Given the description of an element on the screen output the (x, y) to click on. 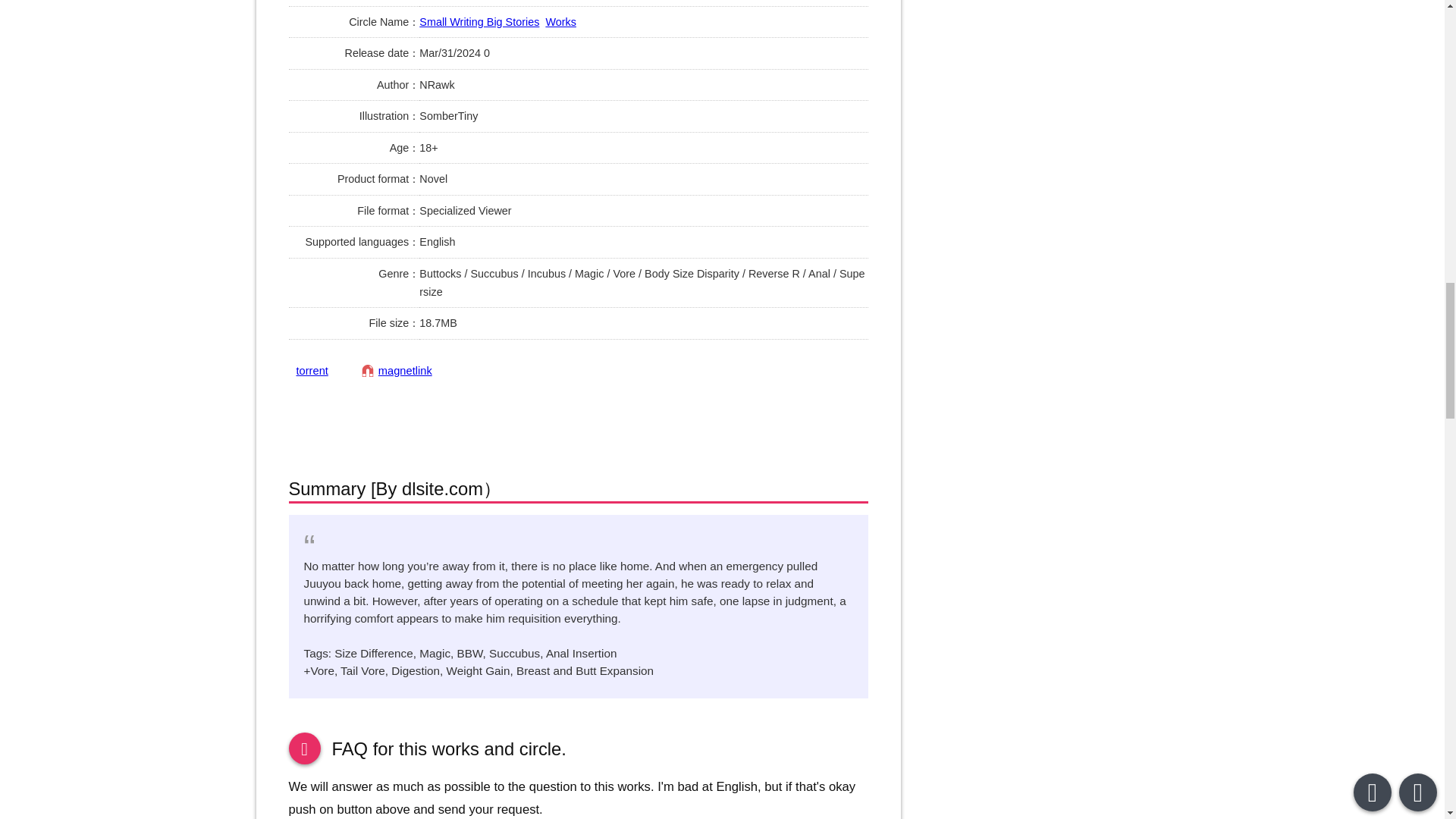
Works (560, 21)
torrent (311, 370)
Small Writing Big Stories (478, 21)
magnetlink (396, 370)
Works (560, 21)
